Given the description of an element on the screen output the (x, y) to click on. 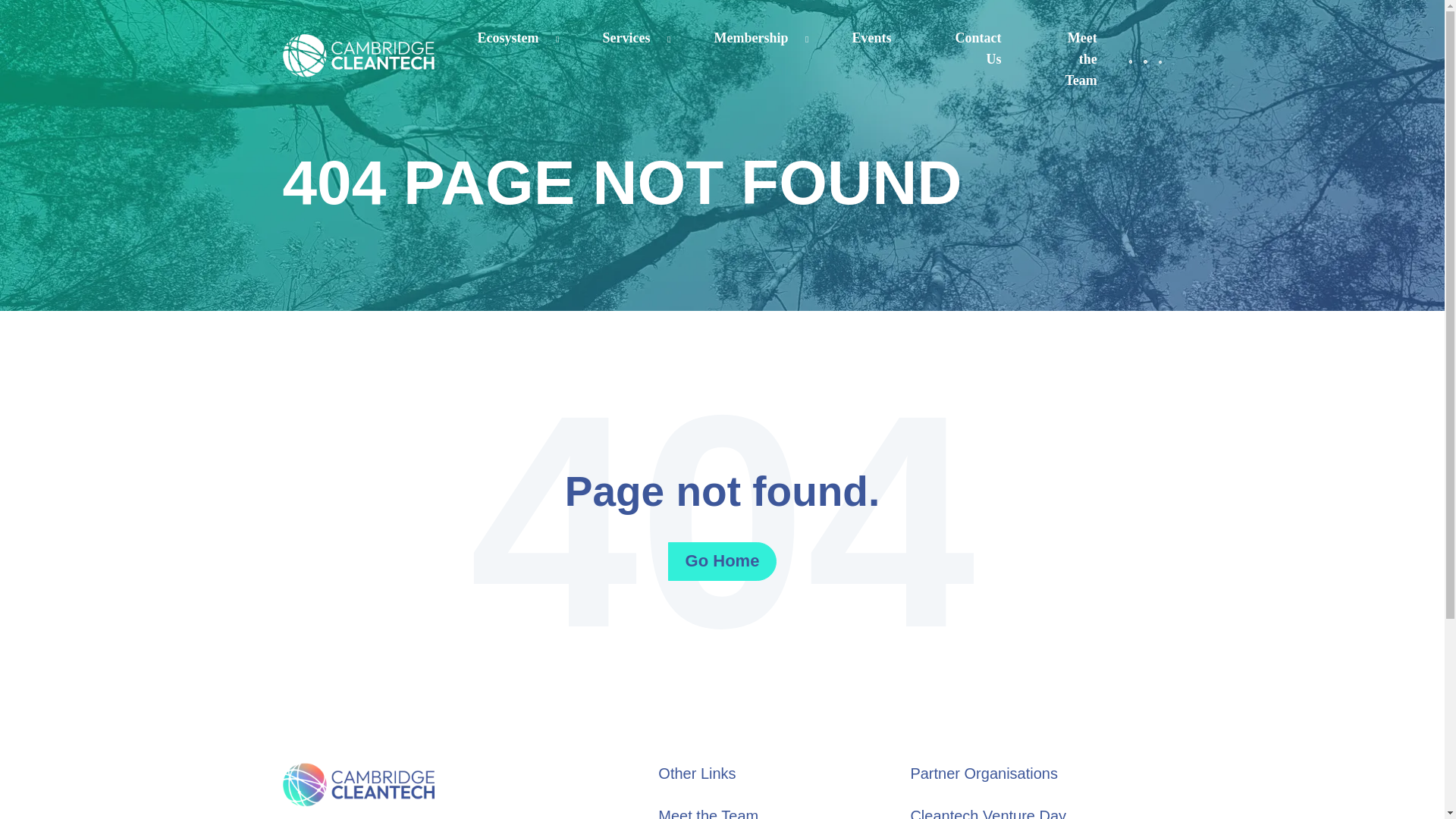
Events (871, 37)
logo (357, 55)
Contact Us (978, 48)
foot-logo (357, 784)
Membership (750, 37)
Cleantech Venture Day (987, 813)
Go Home (722, 561)
Services (625, 37)
Ecosystem (507, 37)
Meet the Team (708, 813)
